Given the description of an element on the screen output the (x, y) to click on. 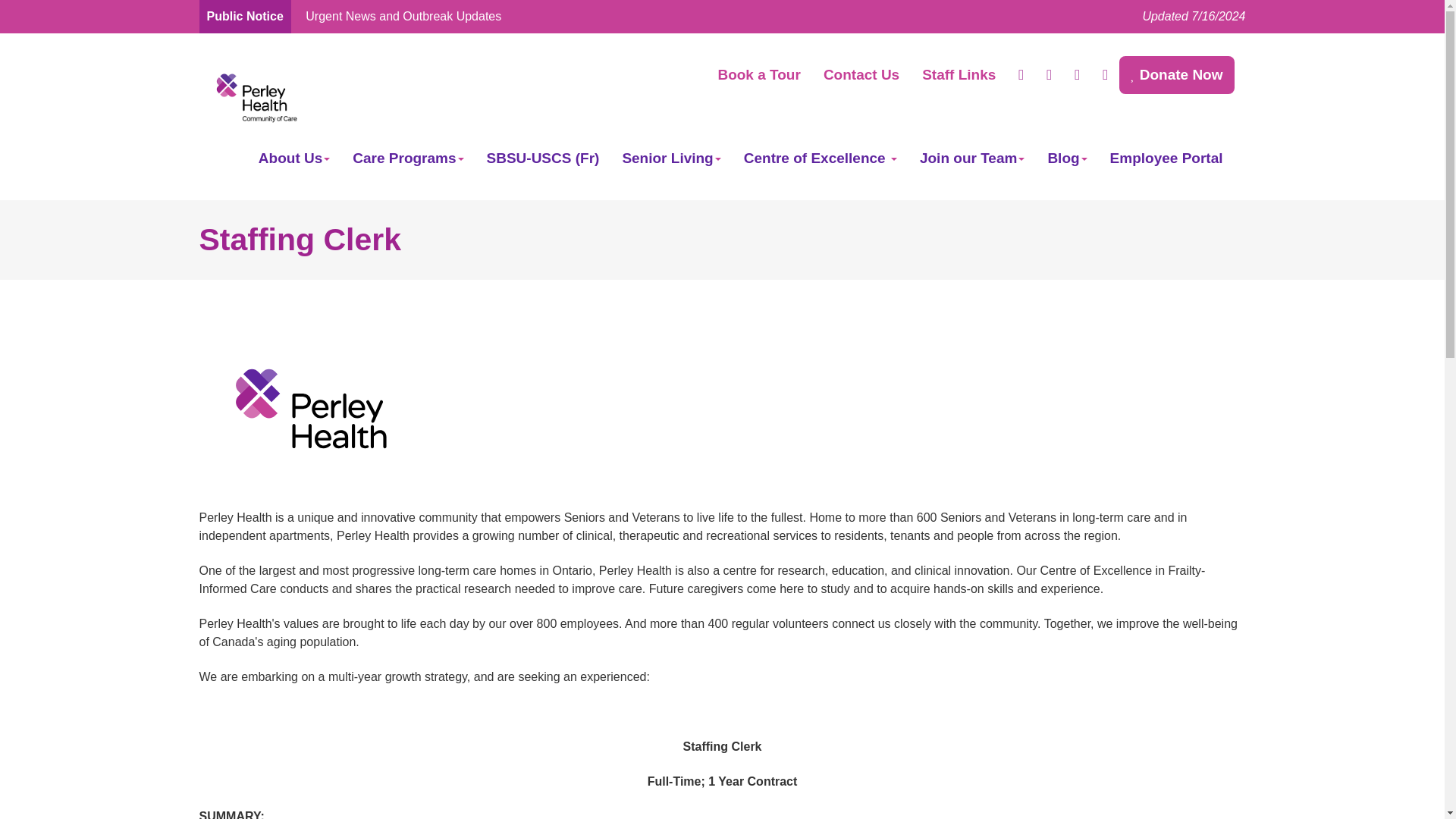
Staff Links (959, 75)
Contact Us (861, 75)
Perley Health (255, 96)
Donate Now (1176, 75)
Book a Tour (758, 75)
About Us (293, 158)
